Given the description of an element on the screen output the (x, y) to click on. 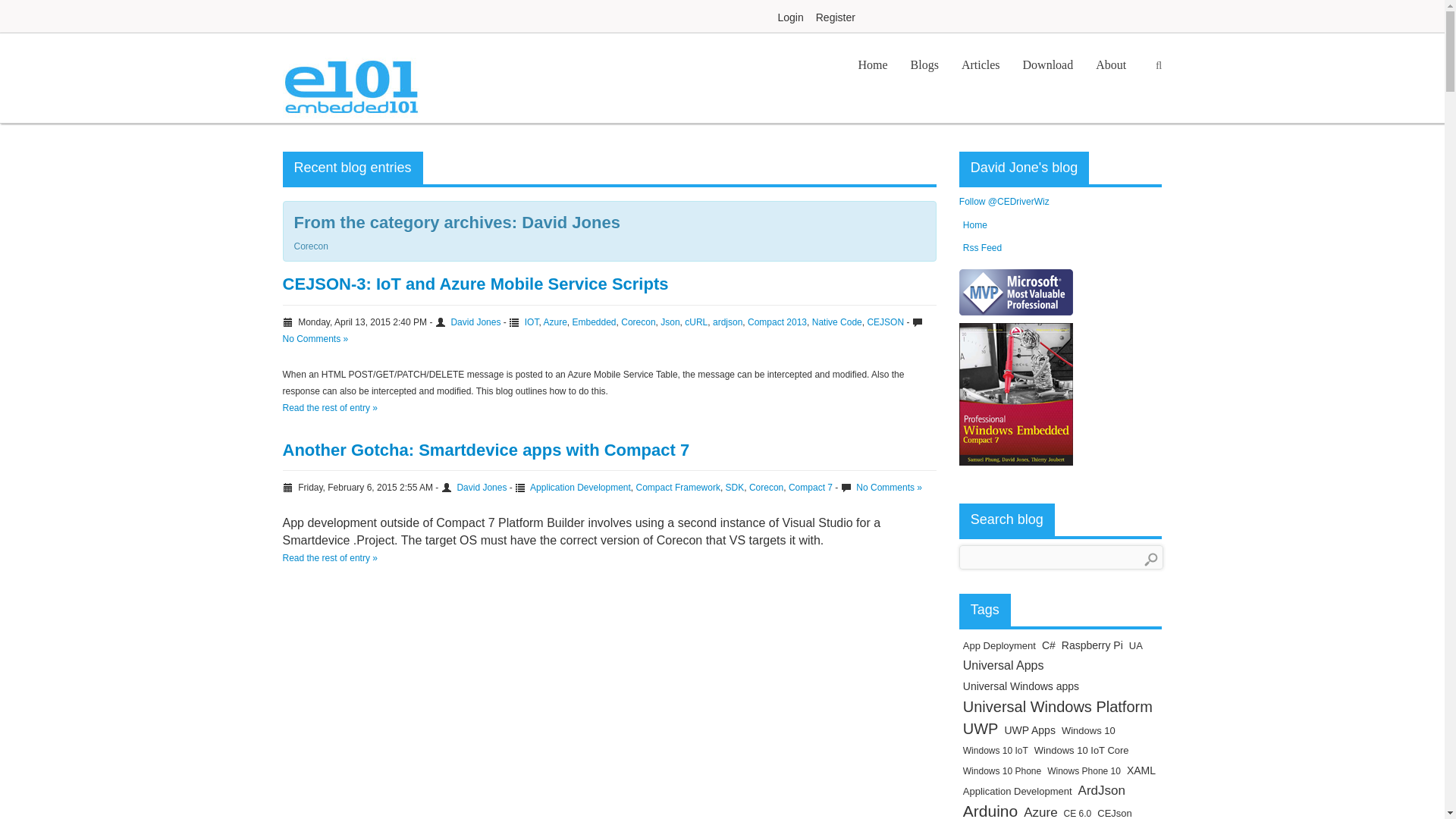
IOT (531, 321)
Compact Framework (678, 487)
Compact 2013 (777, 321)
Native Code (836, 321)
Corecon (638, 321)
cURL (695, 321)
Embedded101 (350, 77)
Register (835, 16)
View all posts in CEJSON (885, 321)
